Given the description of an element on the screen output the (x, y) to click on. 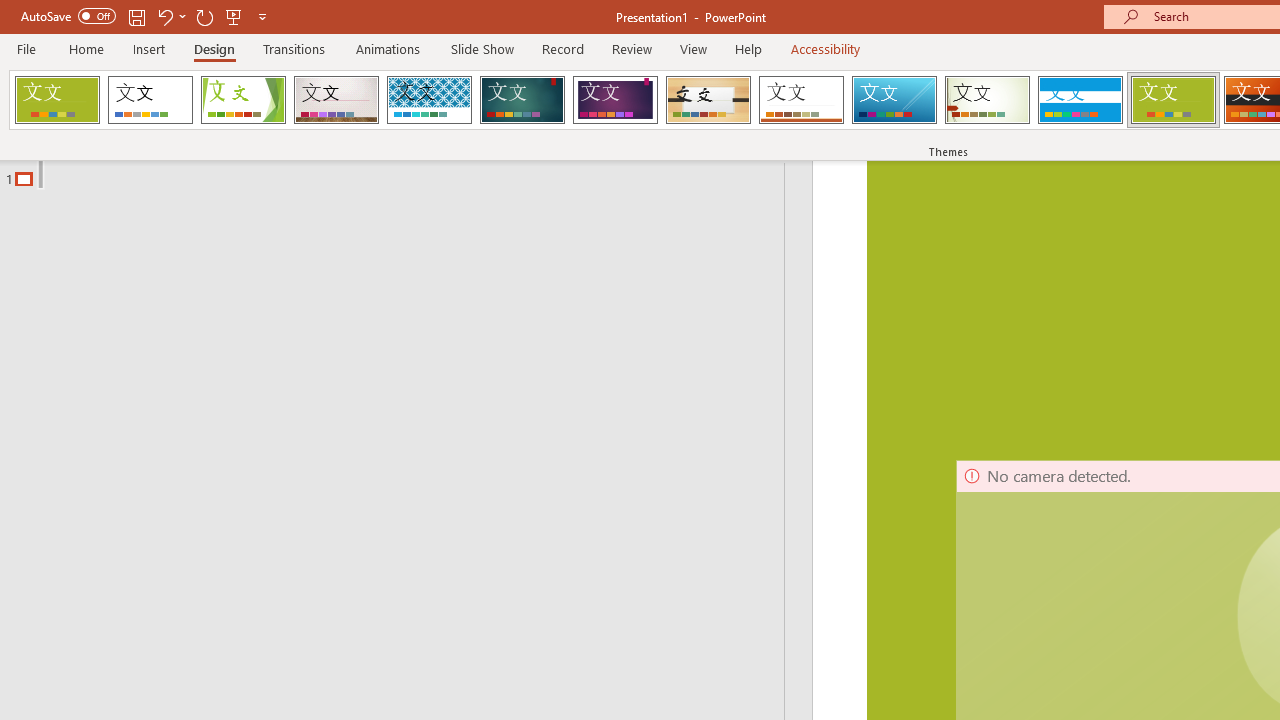
Office Theme (150, 100)
Wisp (987, 100)
Ion (522, 100)
Retrospect (801, 100)
Basis (1172, 100)
